Given the description of an element on the screen output the (x, y) to click on. 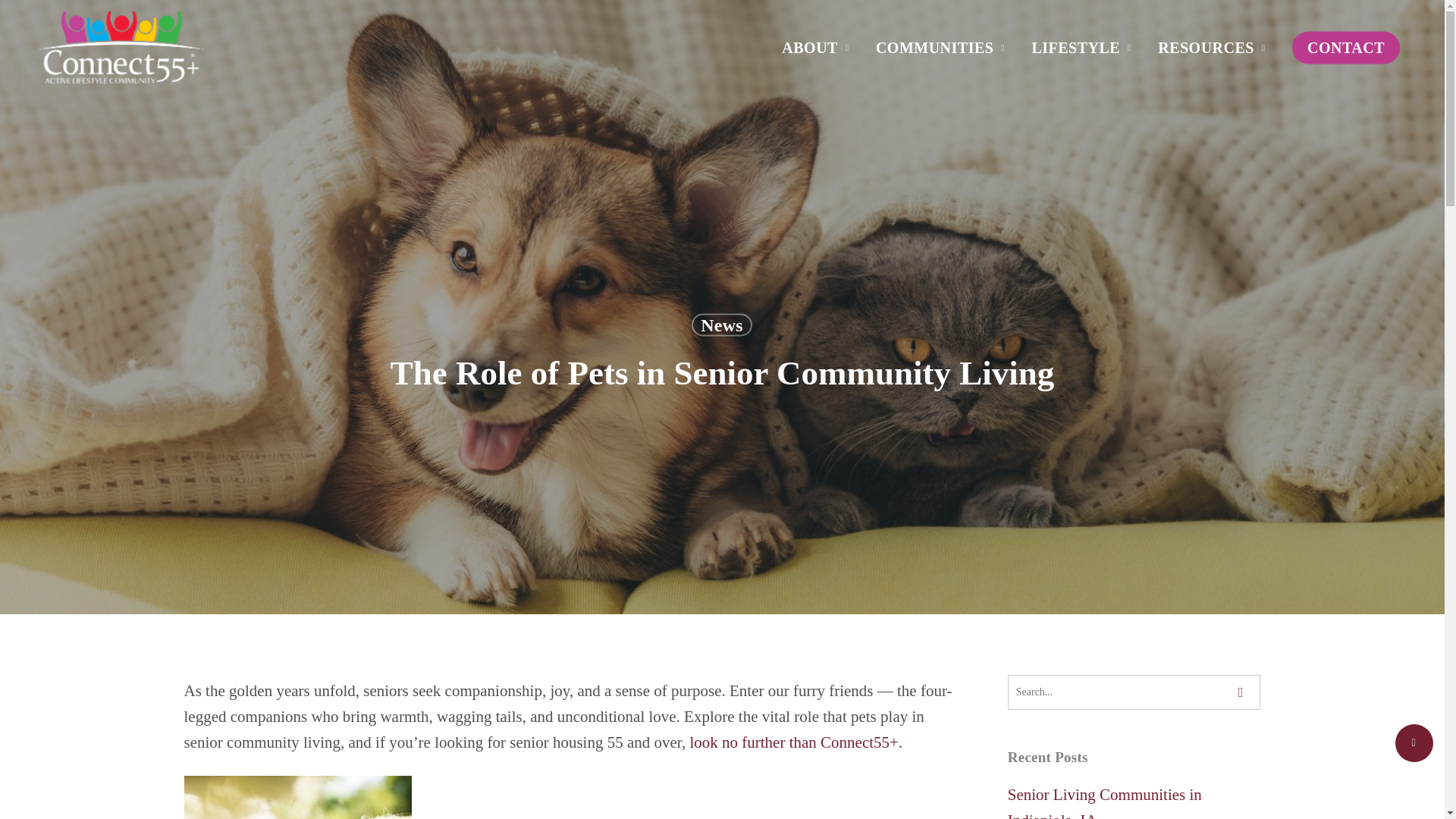
COMMUNITIES (942, 46)
LIFESTYLE (1083, 46)
CONTACT (1345, 46)
ABOUT (817, 46)
RESOURCES (1214, 46)
Search for: (1133, 692)
